Given the description of an element on the screen output the (x, y) to click on. 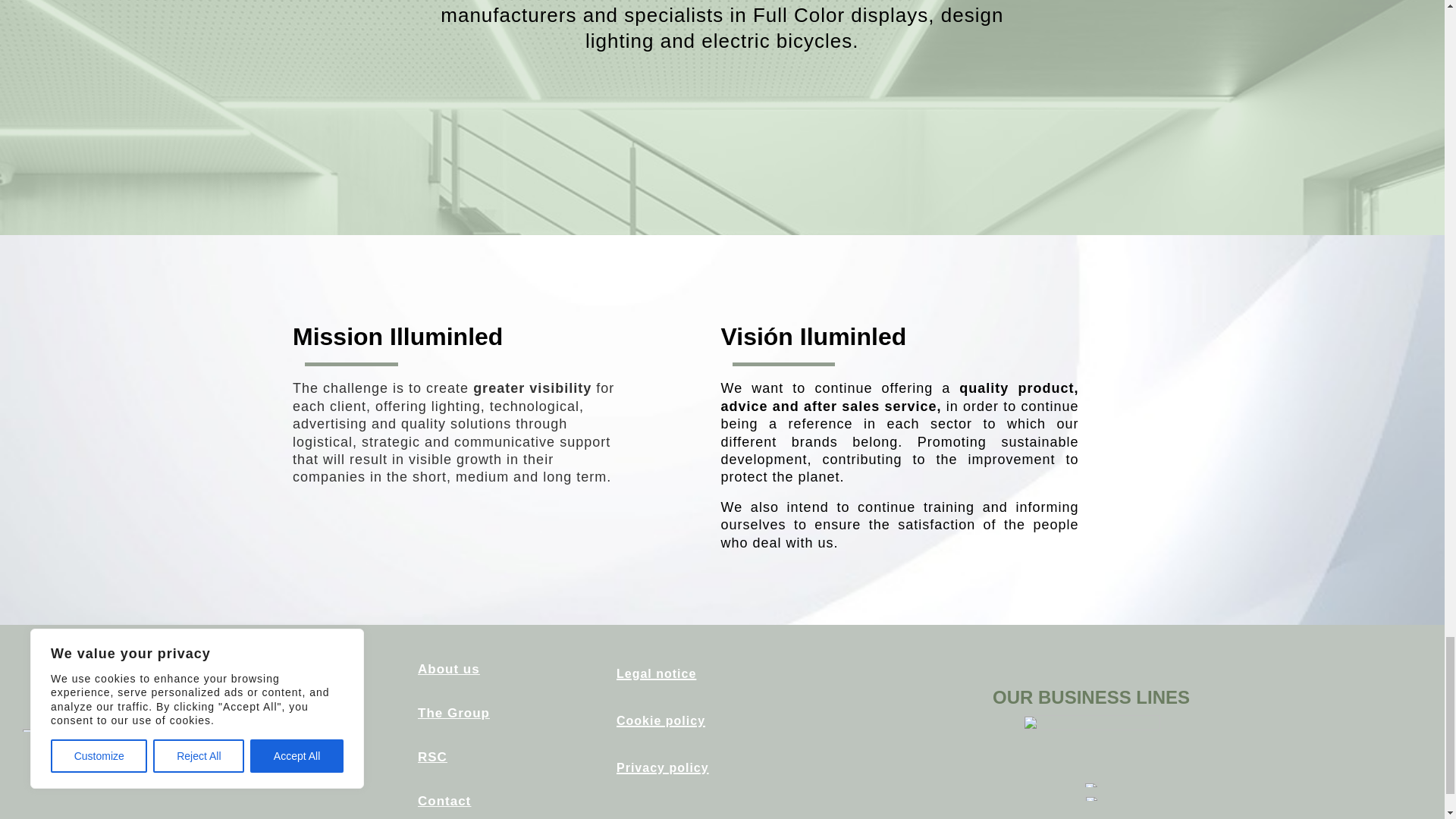
Legal notice (655, 672)
About us (448, 668)
Contact (443, 800)
The Group (453, 712)
RSC (431, 757)
